Given the description of an element on the screen output the (x, y) to click on. 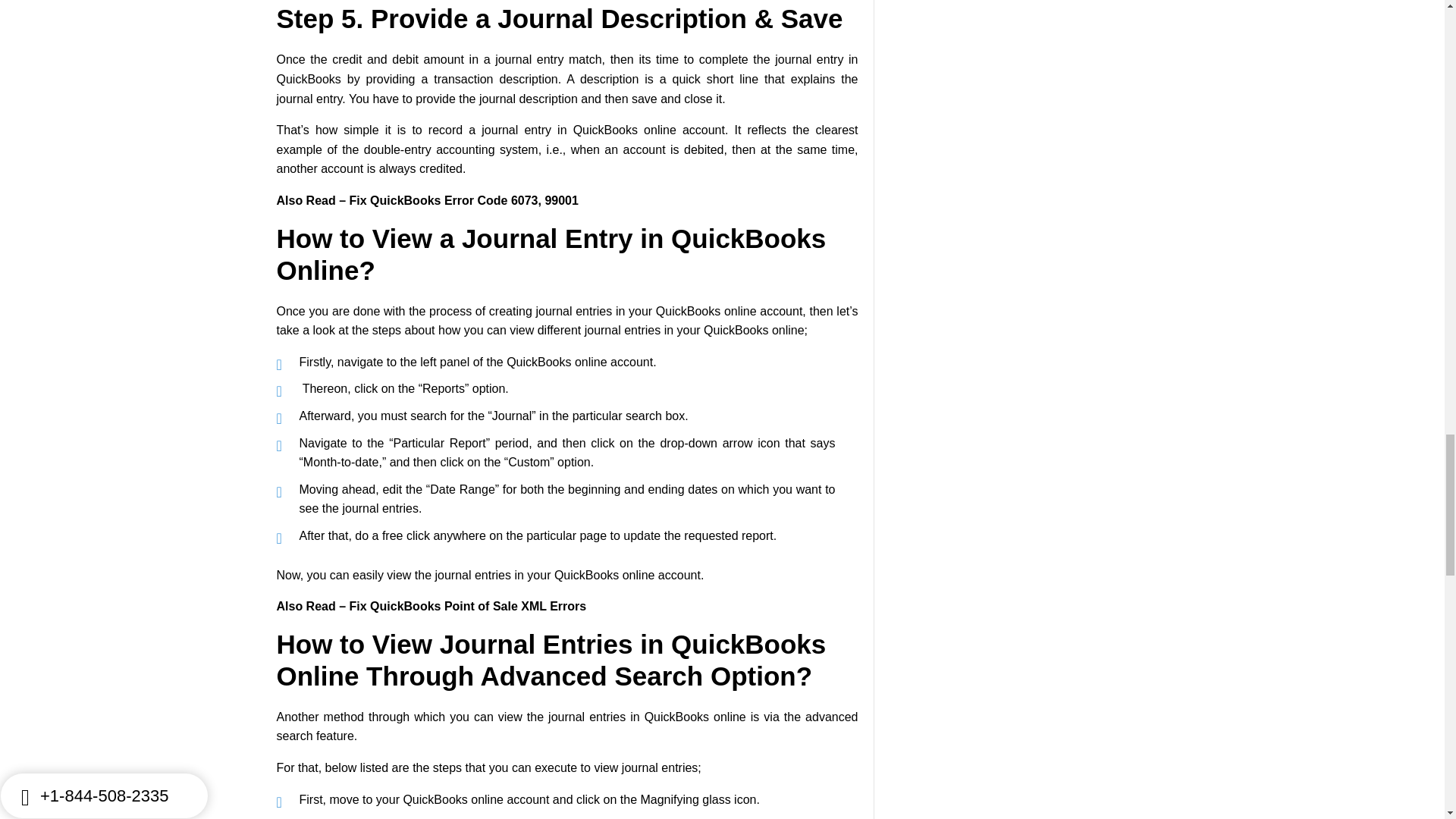
Fix QuickBooks Point of Sale XML Errors (467, 605)
Fix QuickBooks Error Code 6073, 99001 (463, 200)
